Given the description of an element on the screen output the (x, y) to click on. 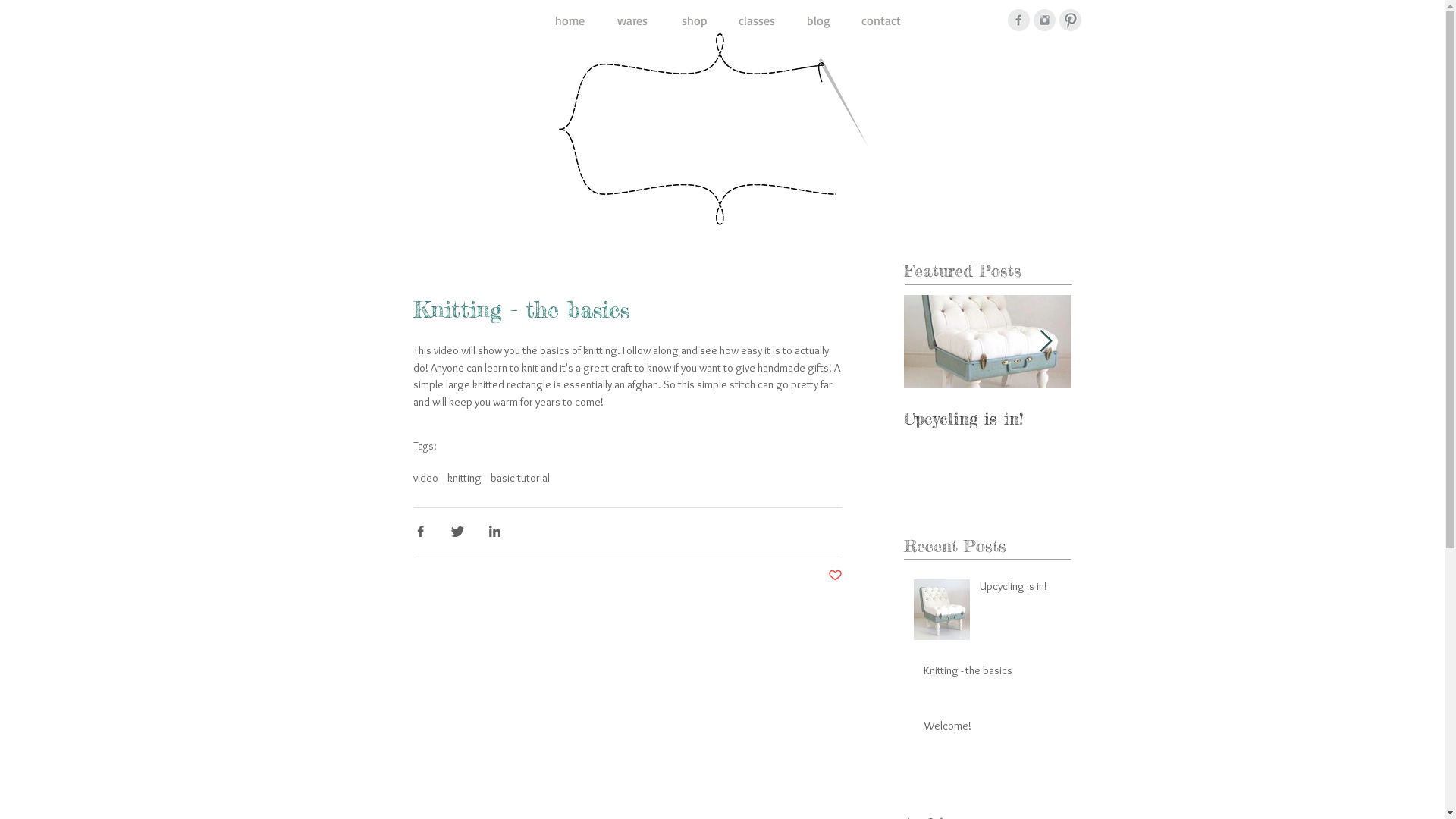
Knitting - the basics Element type: text (1153, 417)
contact Element type: text (880, 20)
shop Element type: text (693, 20)
Welcome! Element type: text (992, 729)
wares Element type: text (631, 20)
Upcycling is in! Element type: text (986, 417)
video Element type: text (424, 477)
Post not marked as liked Element type: text (835, 575)
Knitting - the basics Element type: text (992, 673)
classes Element type: text (755, 20)
Upcycling is in! Element type: text (1020, 589)
home Element type: text (569, 20)
blog Element type: text (818, 20)
basic tutorial Element type: text (519, 477)
knitting Element type: text (464, 477)
